Given the description of an element on the screen output the (x, y) to click on. 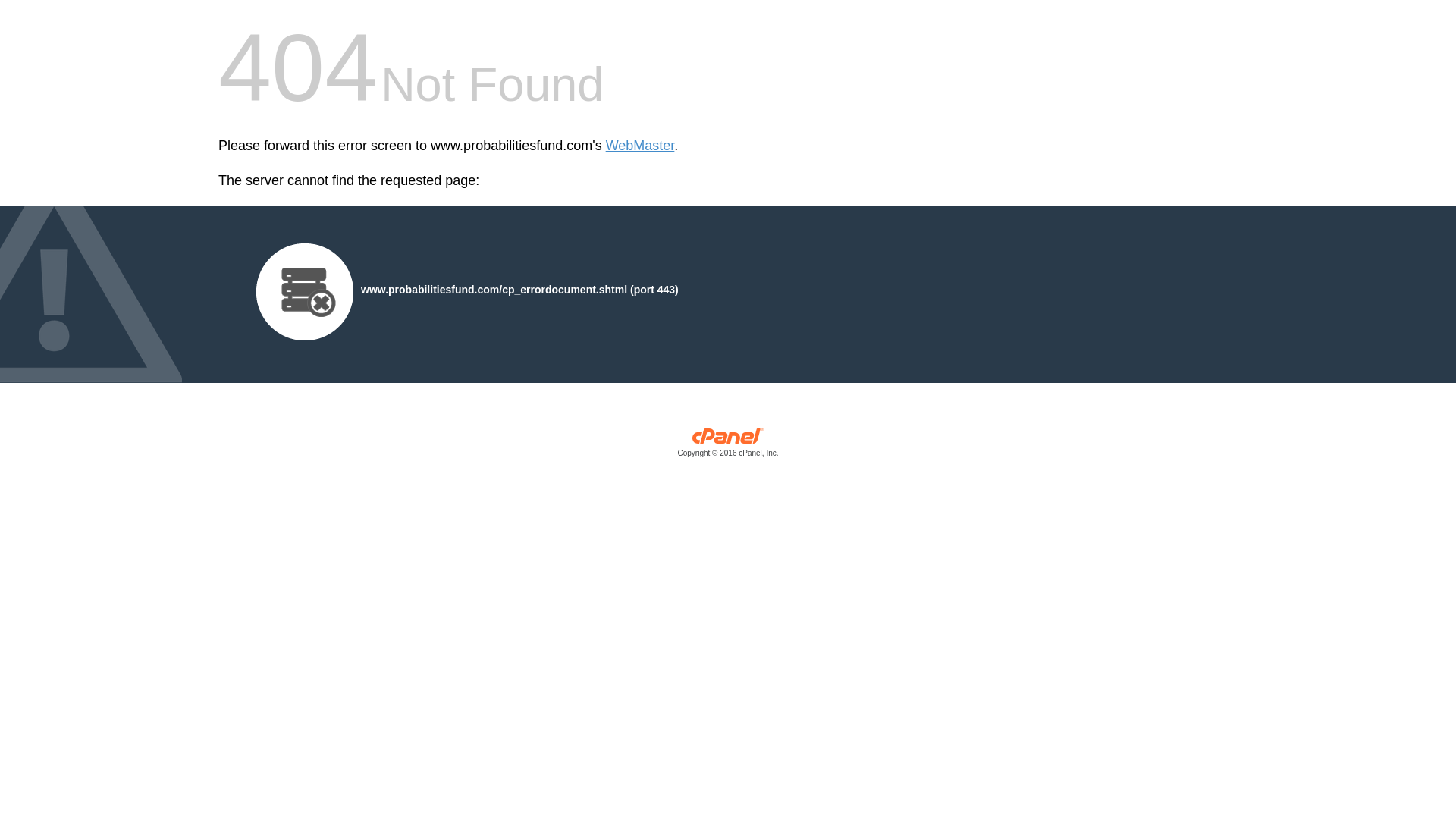
cPanel, Inc. (727, 446)
WebMaster (640, 145)
